Given the description of an element on the screen output the (x, y) to click on. 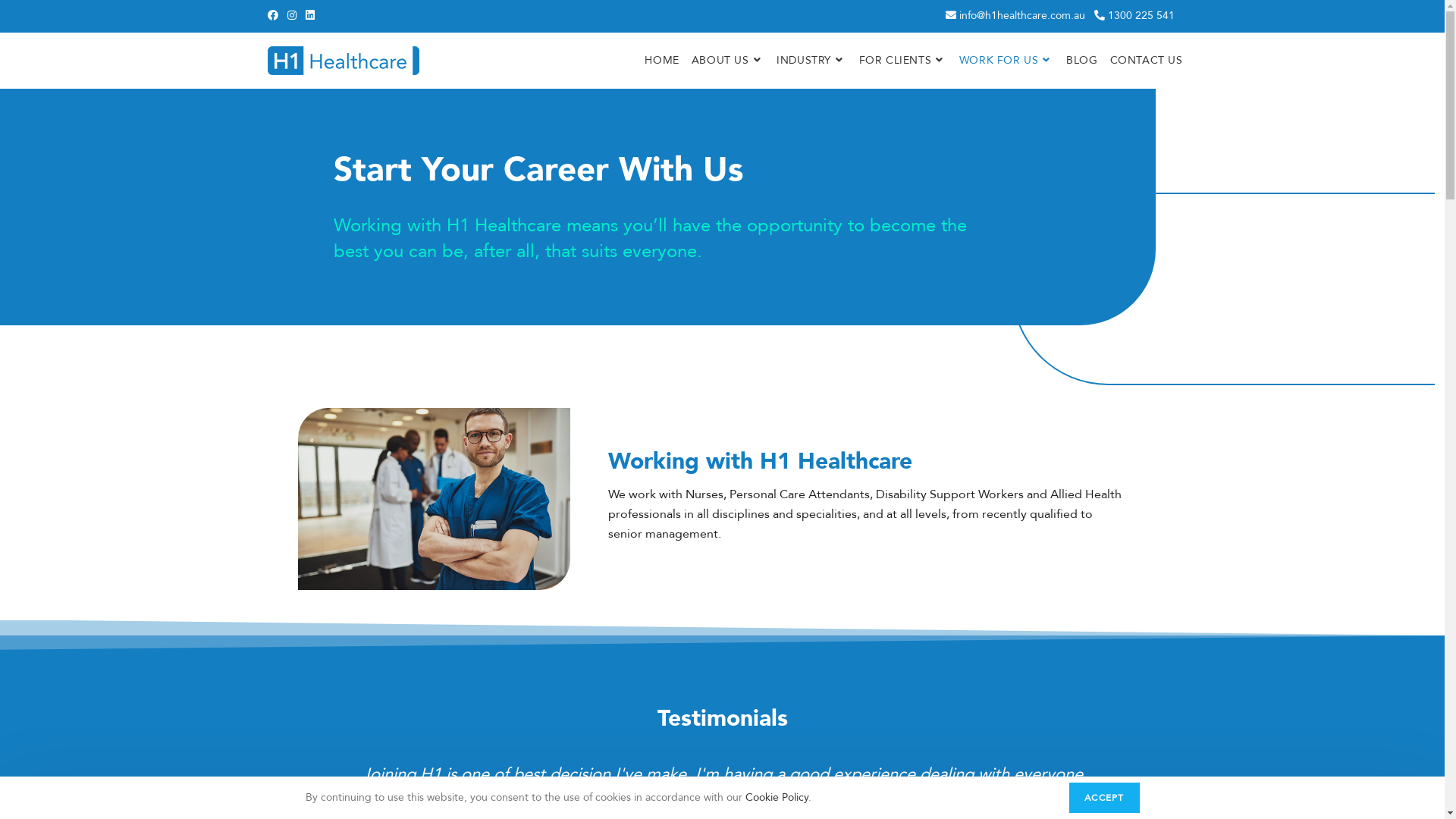
INDUSTRY Element type: text (811, 60)
CONTACT US Element type: text (1146, 60)
WORK FOR US Element type: text (1006, 60)
FOR CLIENTS Element type: text (903, 60)
1300 225 541 Element type: text (1133, 15)
HOME Element type: text (661, 60)
ACCEPT Element type: text (1104, 797)
Cookie Policy Element type: text (775, 797)
BLOG Element type: text (1081, 60)
ABOUT US Element type: text (727, 60)
info@h1healthcare.com.au Element type: text (1014, 15)
